Given the description of an element on the screen output the (x, y) to click on. 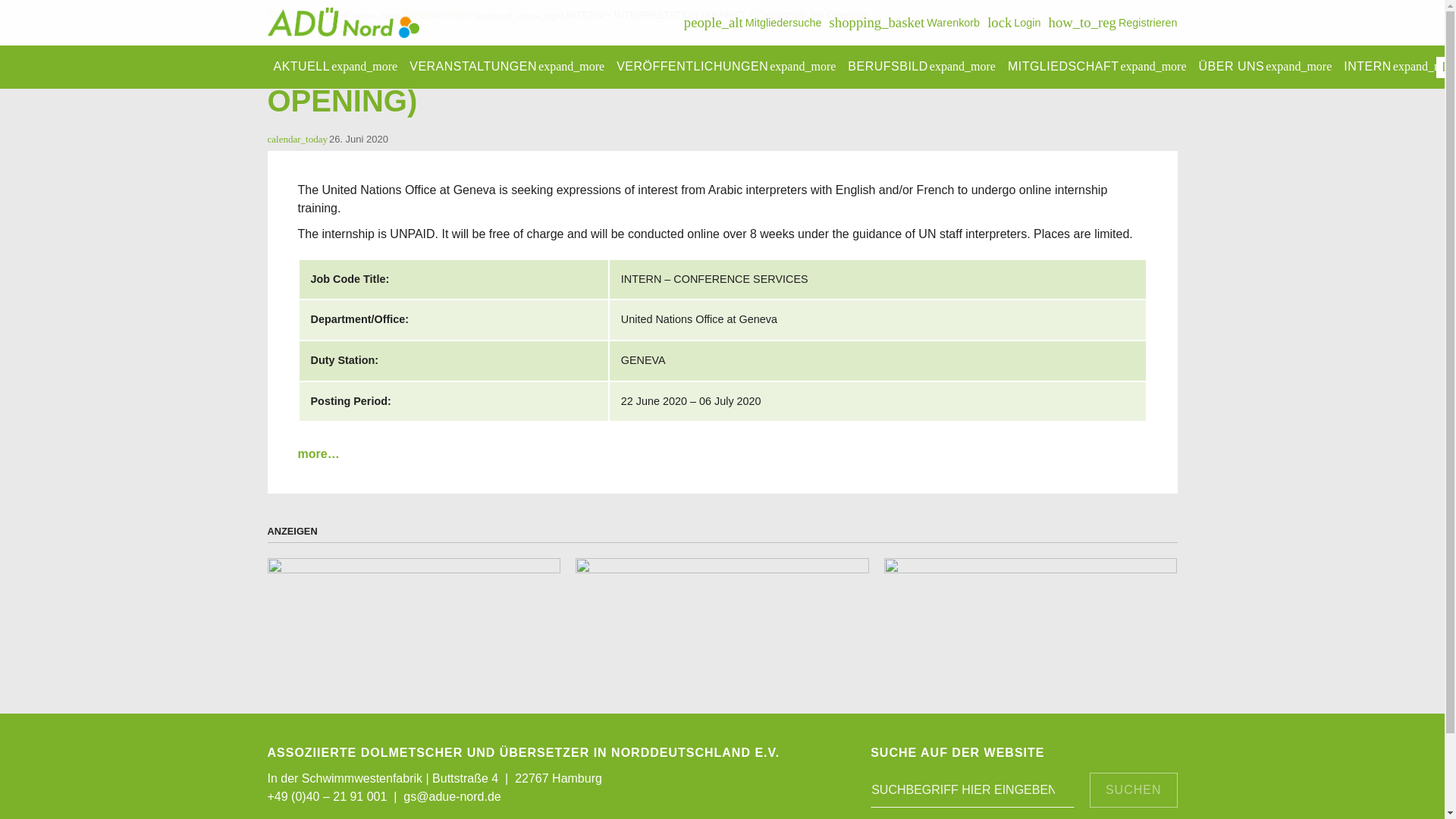
VERANSTALTUNGEN (1014, 22)
AKTUELL (506, 66)
